Given the description of an element on the screen output the (x, y) to click on. 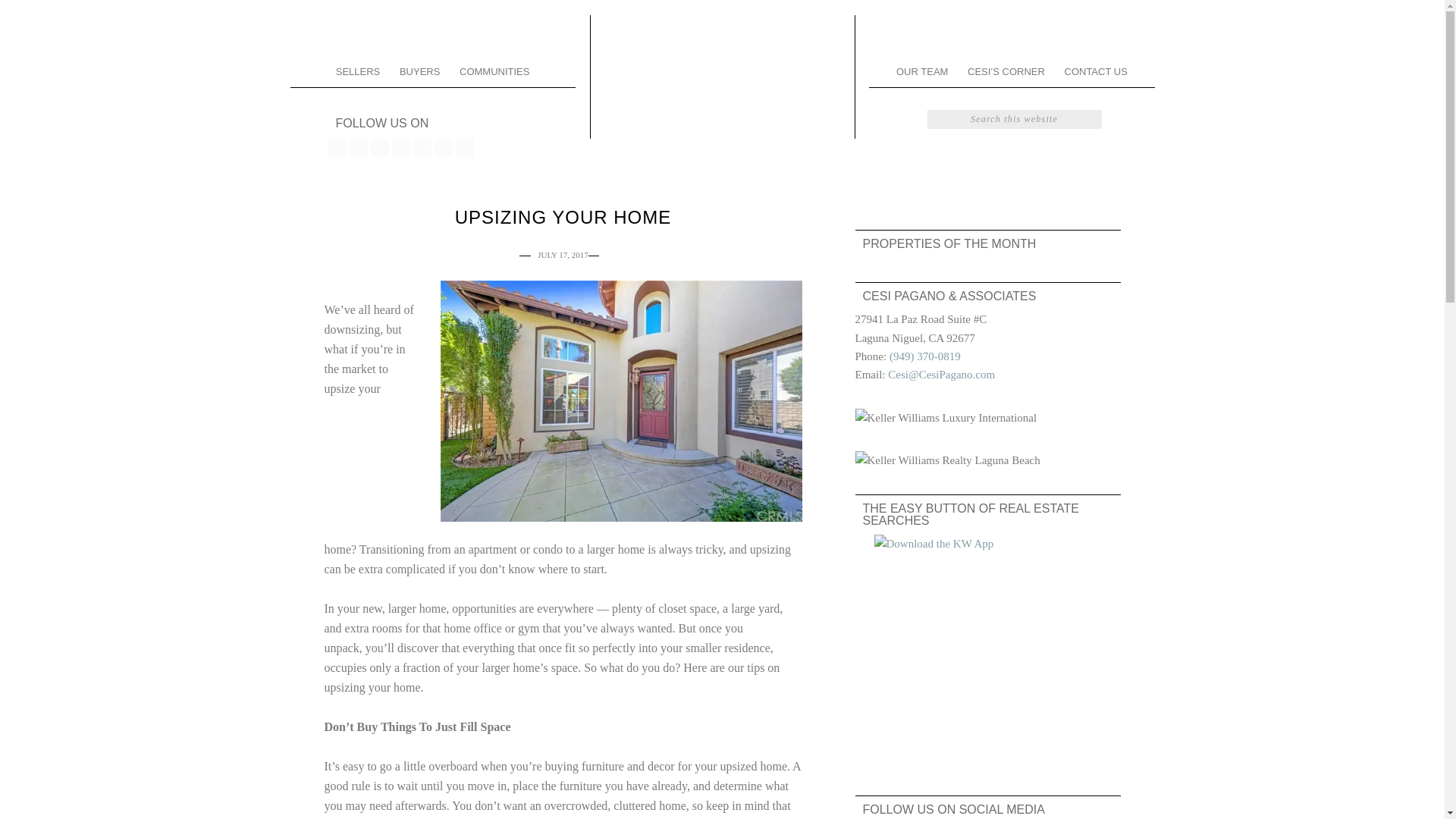
SELLERS (357, 70)
BUYERS (419, 70)
Download the KW App (986, 648)
COMMUNITIES (494, 70)
